Given the description of an element on the screen output the (x, y) to click on. 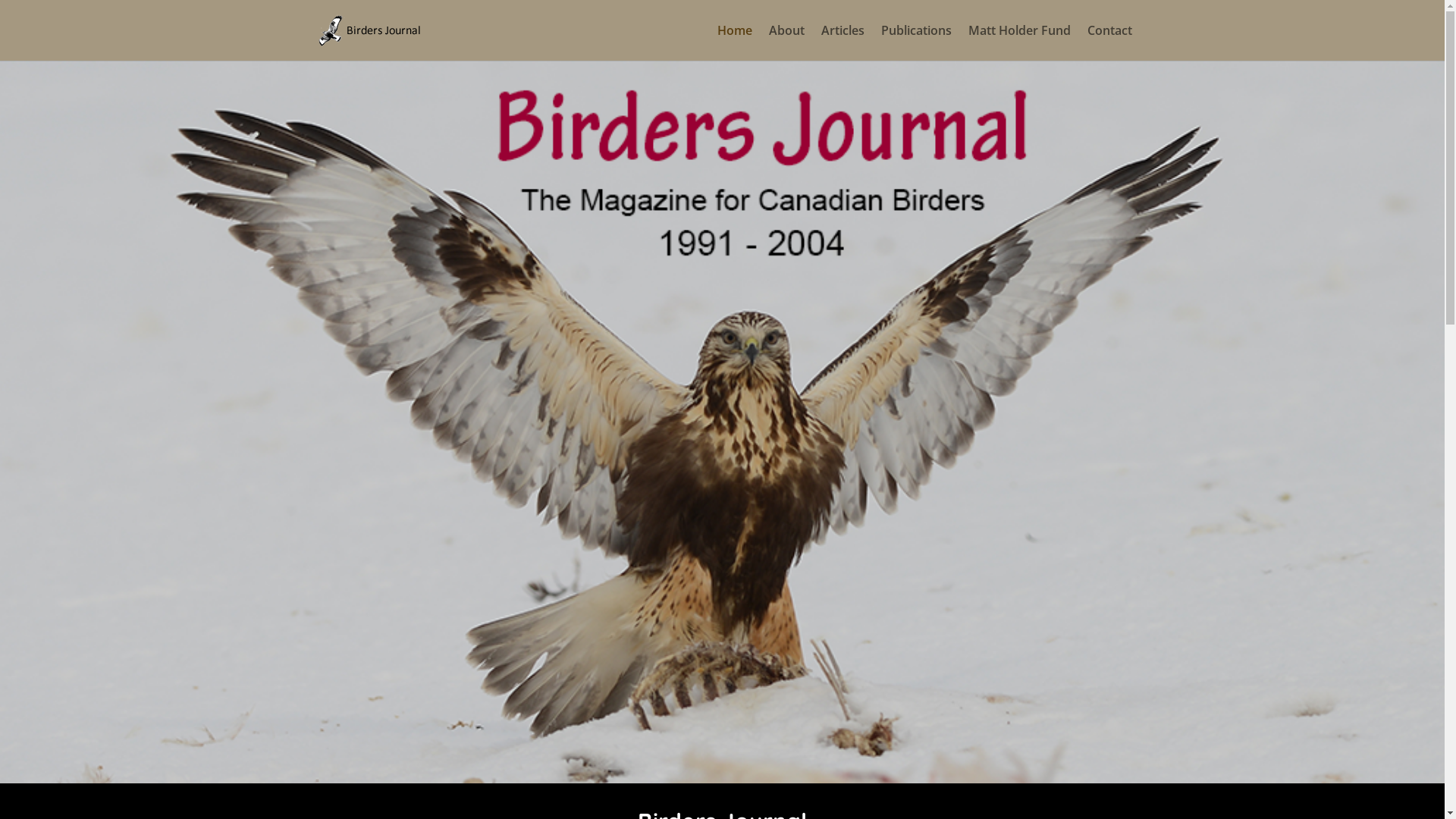
Home Element type: text (734, 42)
Contact Element type: text (1109, 42)
Articles Element type: text (841, 42)
Matt Holder Fund Element type: text (1018, 42)
birder website Element type: hover (722, 421)
Publications Element type: text (916, 42)
About Element type: text (786, 42)
